Given the description of an element on the screen output the (x, y) to click on. 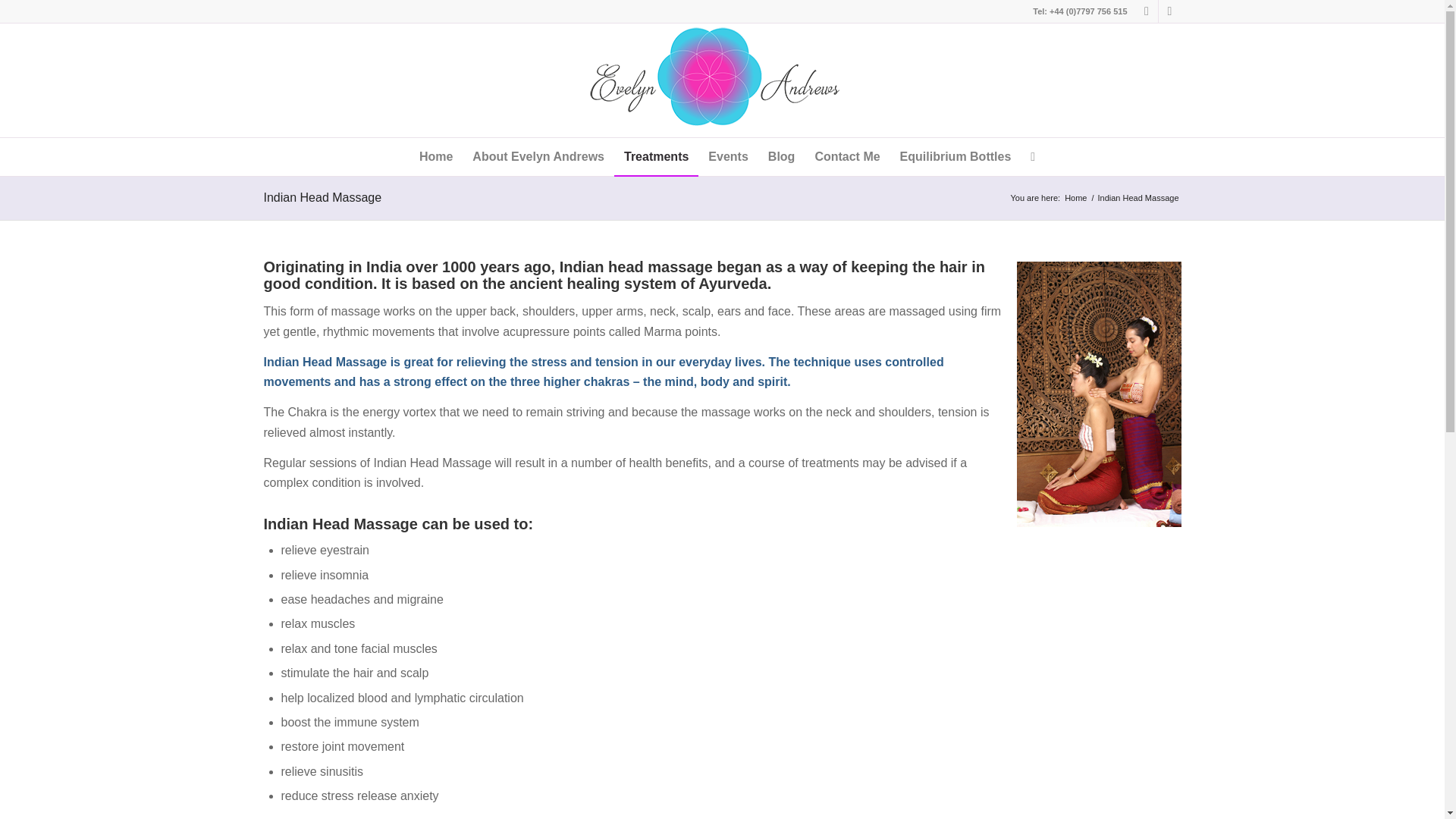
Permanent Link: Indian Head Massage (322, 196)
Home (1075, 197)
Home (436, 157)
Facebook (1146, 11)
Evelyn Andrews (1075, 197)
Equilibrium Bottles (955, 157)
Indian Head Massage (322, 196)
About Evelyn Andrews (538, 157)
Events (727, 157)
Instagram (1169, 11)
Blog (781, 157)
Treatments (656, 157)
Contact Me (847, 157)
